Given the description of an element on the screen output the (x, y) to click on. 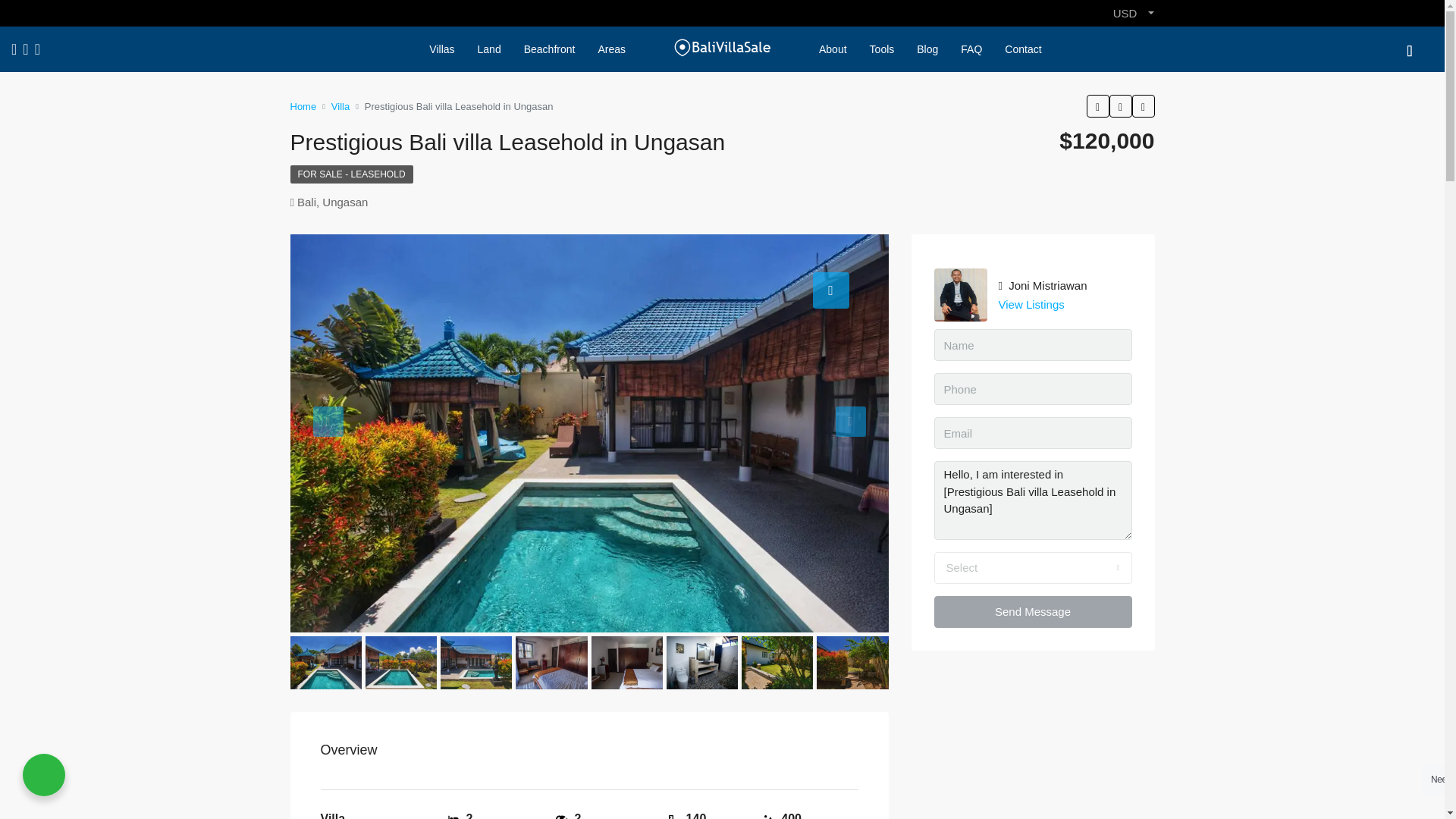
About (833, 49)
Home (302, 106)
Areas (611, 49)
Tools (882, 49)
Villa (340, 106)
FAQ (970, 49)
Land (488, 49)
balivillasale.com (144, 433)
Blog (927, 49)
Contact (1022, 49)
Beachfront (549, 49)
Villas (441, 49)
USD (1133, 13)
